Given the description of an element on the screen output the (x, y) to click on. 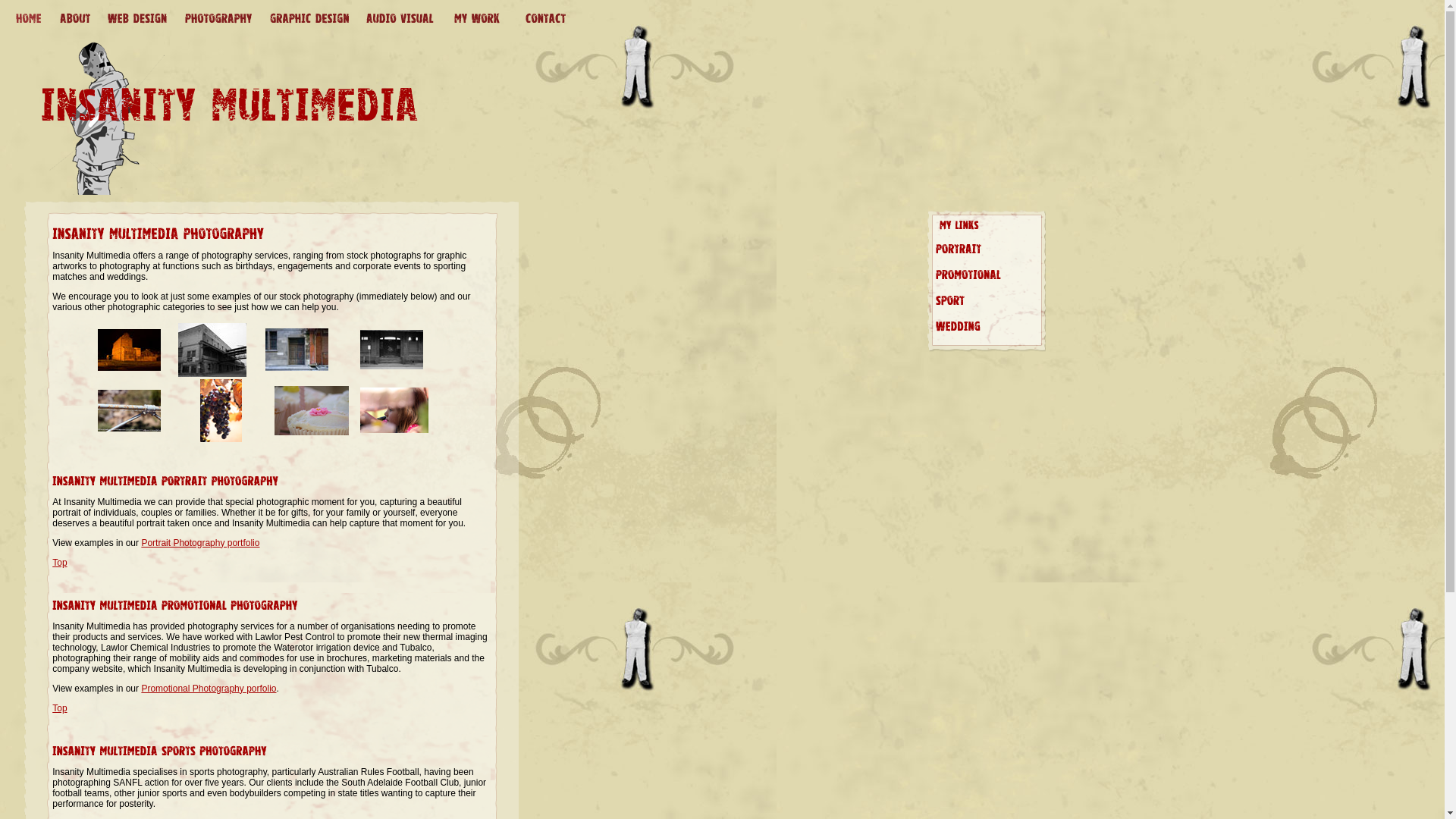
Portrait Photography portfolio Element type: text (200, 542)
Promotional Photography porfolio Element type: text (208, 688)
Top Element type: text (59, 562)
Photo taken at Tenafeate Winery Element type: hover (394, 429)
Stock photo taken at Tenafeate Winery Element type: hover (128, 428)
Adelaide Woolstores Element type: hover (212, 373)
Adelaide Woolstores Element type: hover (296, 367)
Stock photo taken at Tenafeate Winery Element type: hover (220, 438)
Port Adelaide at night Element type: hover (128, 367)
Top Element type: text (59, 707)
Adelaide Woolstores Element type: hover (391, 365)
Stock photo taken at Tenafeate Winery Element type: hover (311, 431)
